Given the description of an element on the screen output the (x, y) to click on. 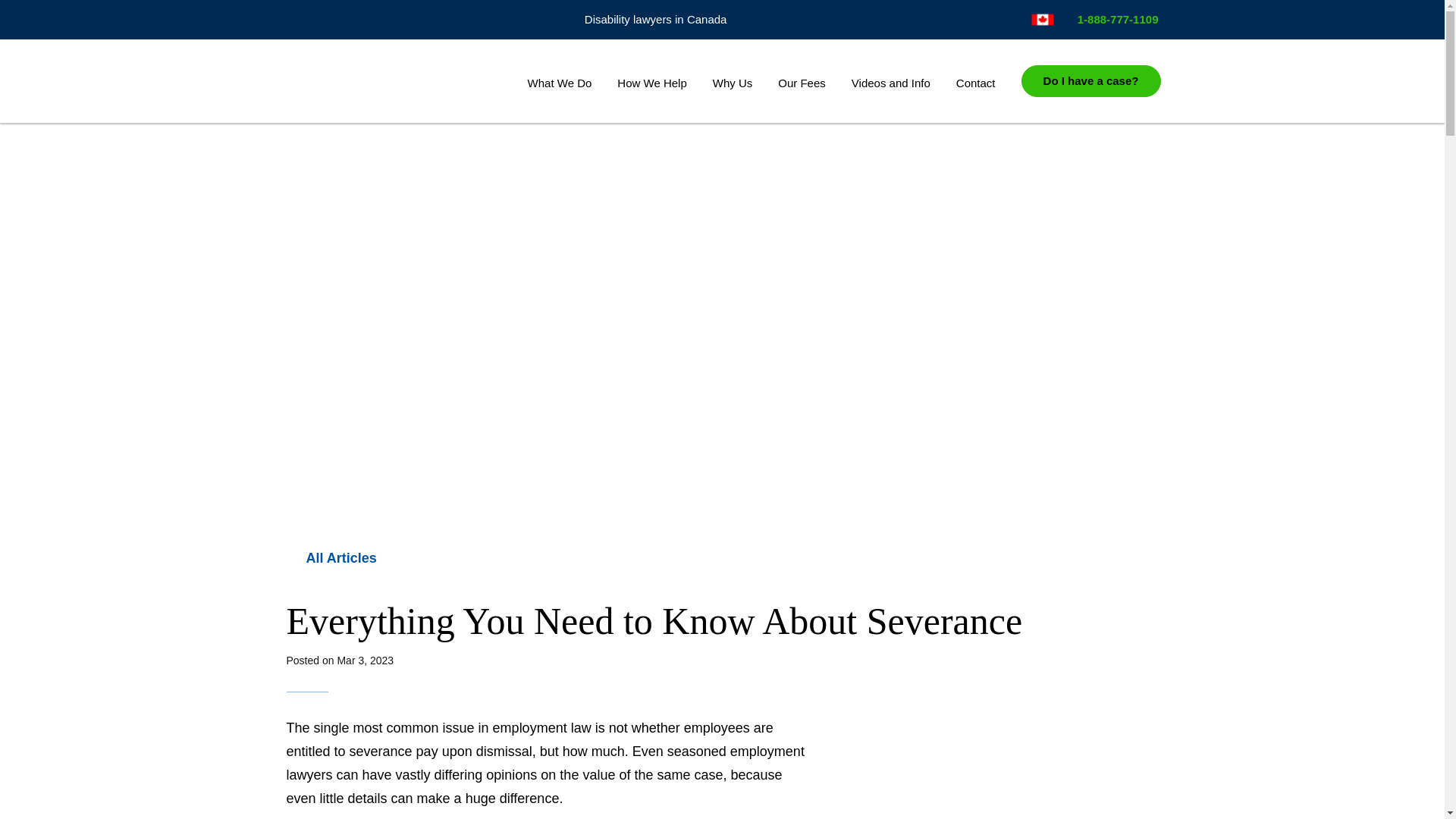
Share Lawyers (385, 81)
1-888-777-1109 (1111, 19)
